Given the description of an element on the screen output the (x, y) to click on. 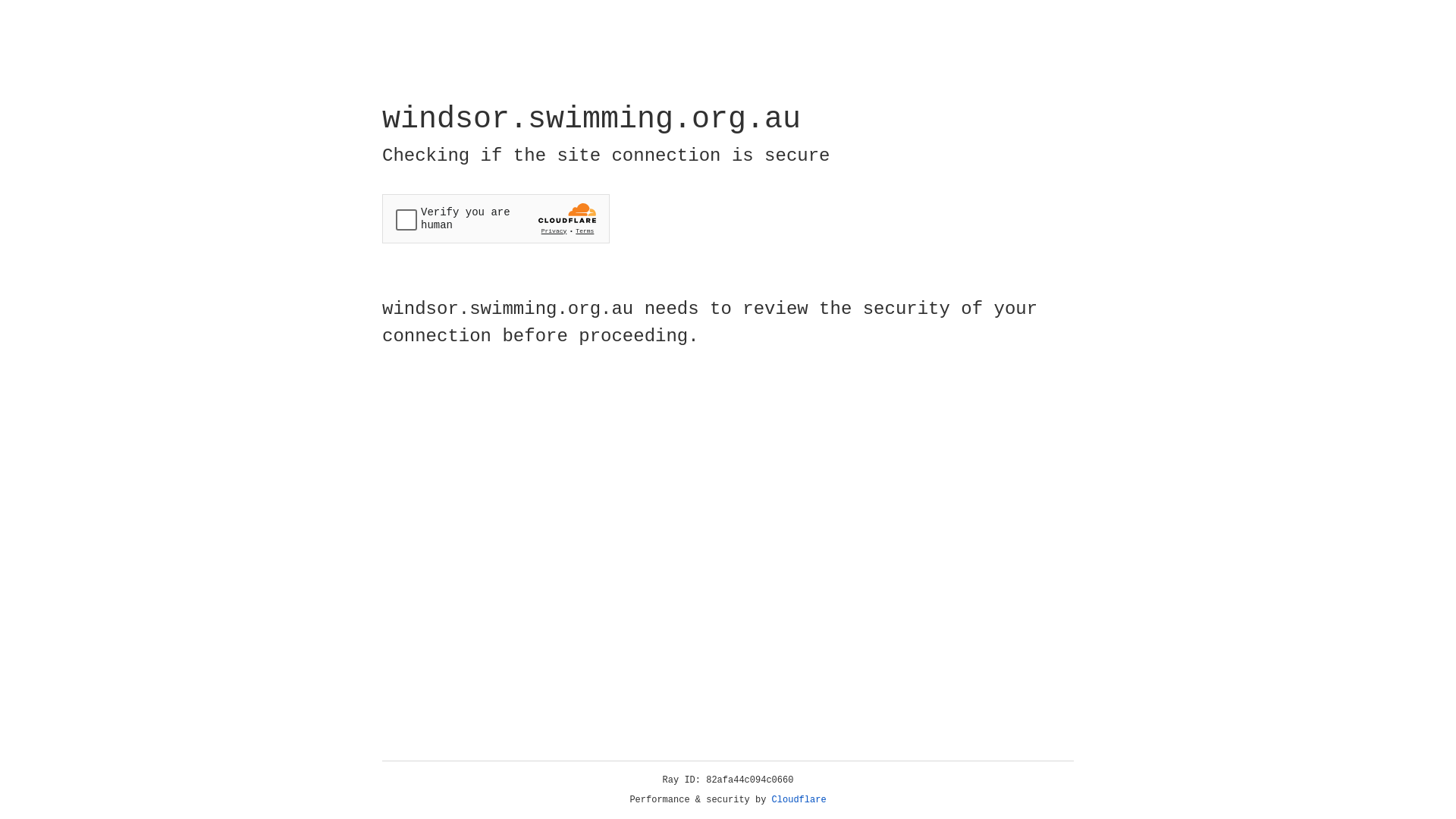
Widget containing a Cloudflare security challenge Element type: hover (495, 218)
Cloudflare Element type: text (798, 799)
